Given the description of an element on the screen output the (x, y) to click on. 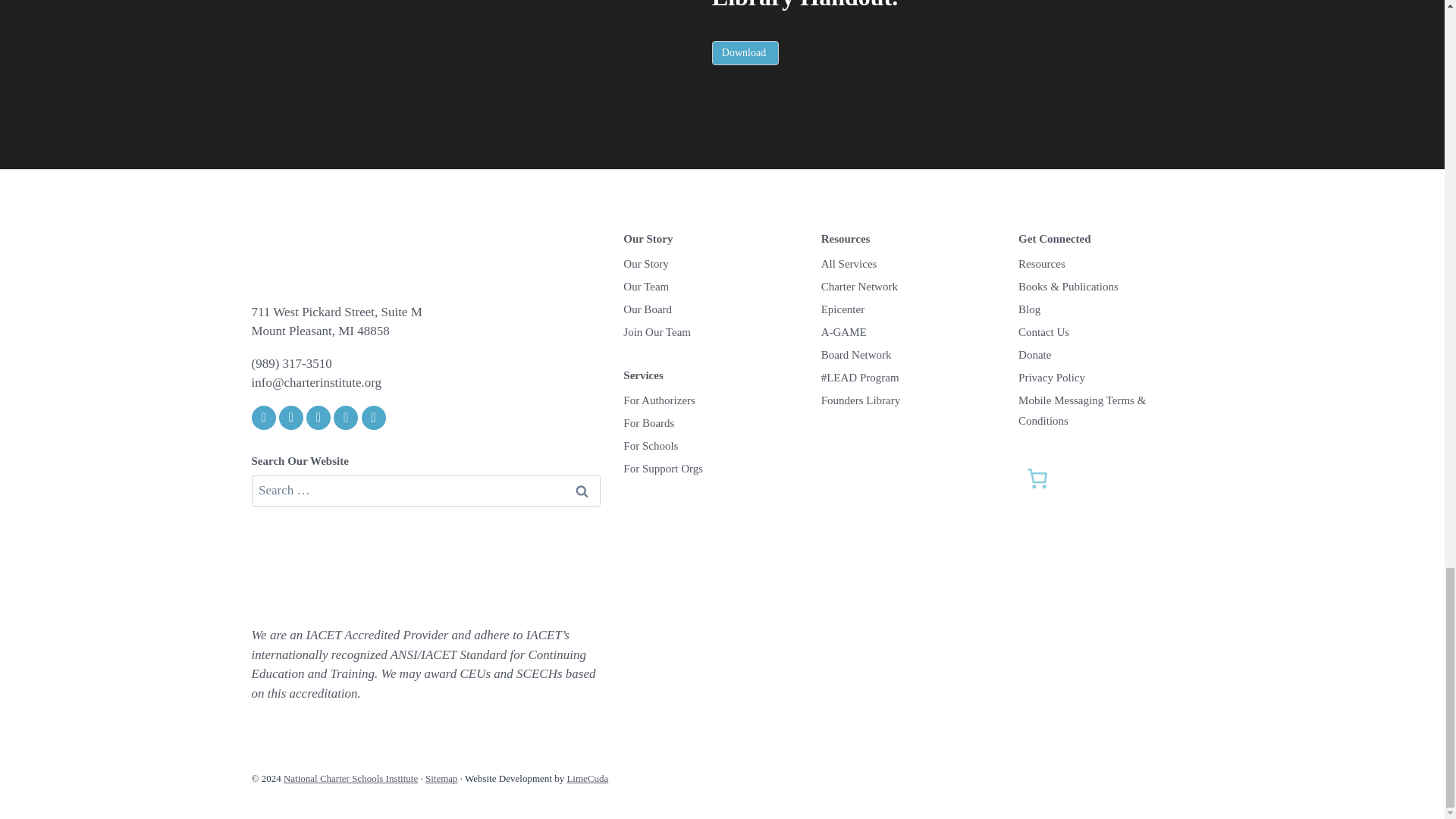
Search (580, 490)
Search (580, 490)
Strategic Website Development (587, 778)
